Given the description of an element on the screen output the (x, y) to click on. 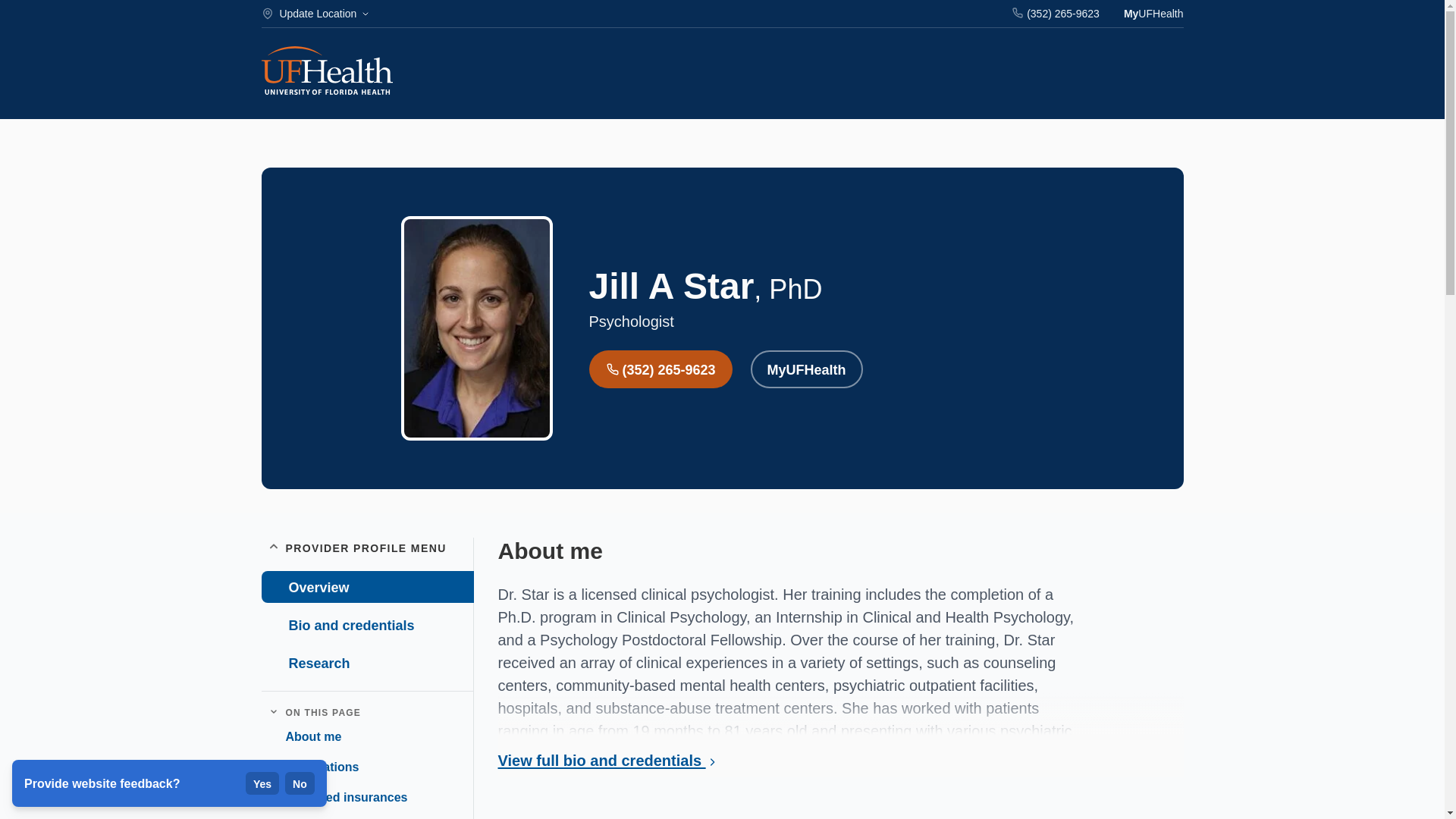
Collapse navigation (272, 712)
About me (306, 736)
Accepted insurances (339, 797)
Bio and credentials (365, 624)
MyUFHealth (1153, 13)
My areas of focus (329, 817)
Research (365, 662)
Overview (366, 586)
UF Health Home (325, 72)
MyUFHealth (807, 369)
View full bio and credentials (610, 760)
My locations (315, 767)
Collapse Provider profile Menu (272, 547)
